Given the description of an element on the screen output the (x, y) to click on. 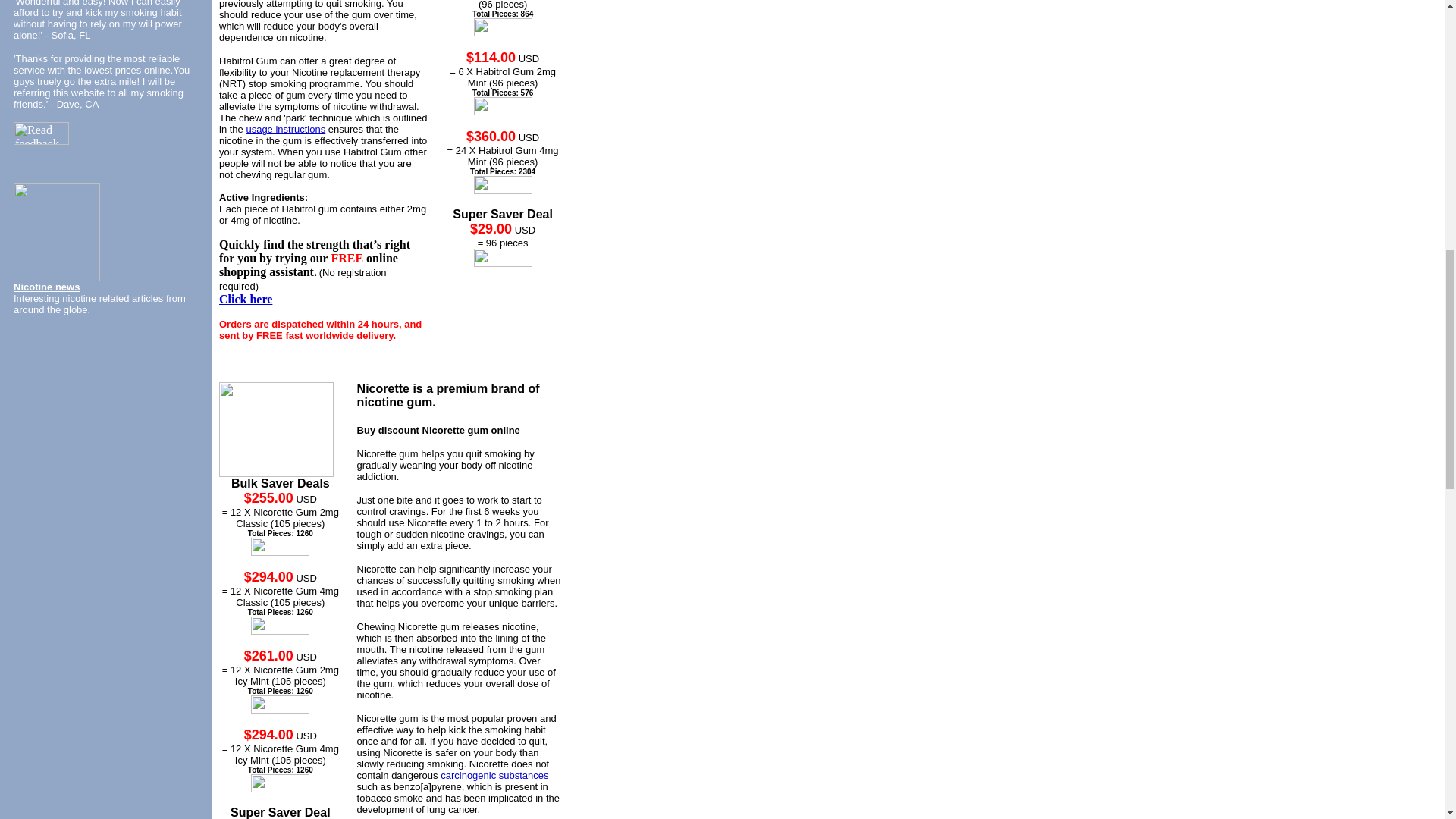
Nicotine news (46, 286)
